Given the description of an element on the screen output the (x, y) to click on. 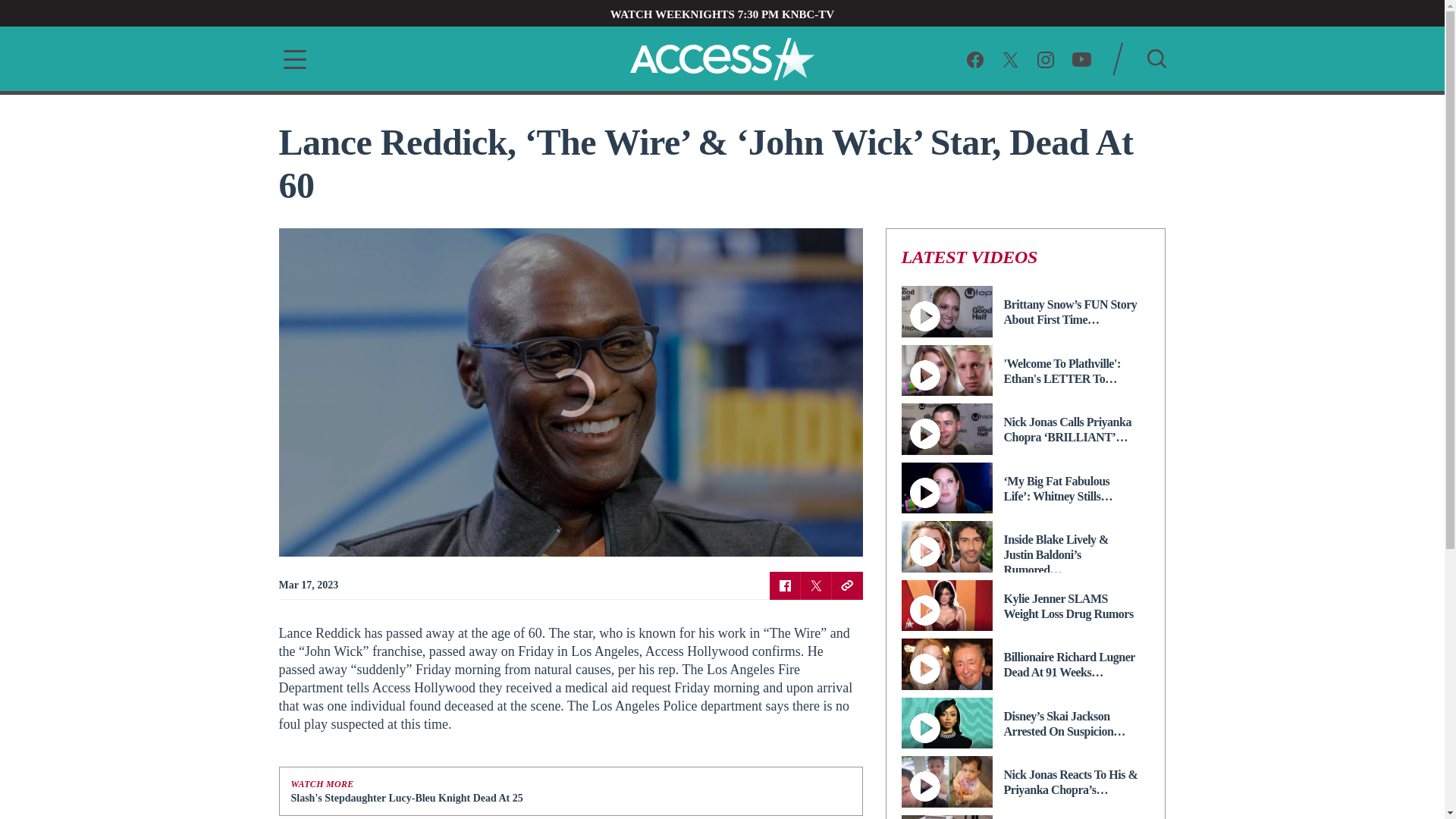
Instagram (1045, 58)
Copy URL (846, 584)
Main navigation (290, 59)
Facebook (975, 58)
Youtube (1080, 58)
Twitter (1010, 58)
SEARCH (1156, 58)
Twitter (815, 584)
Facebook (783, 584)
